Given the description of an element on the screen output the (x, y) to click on. 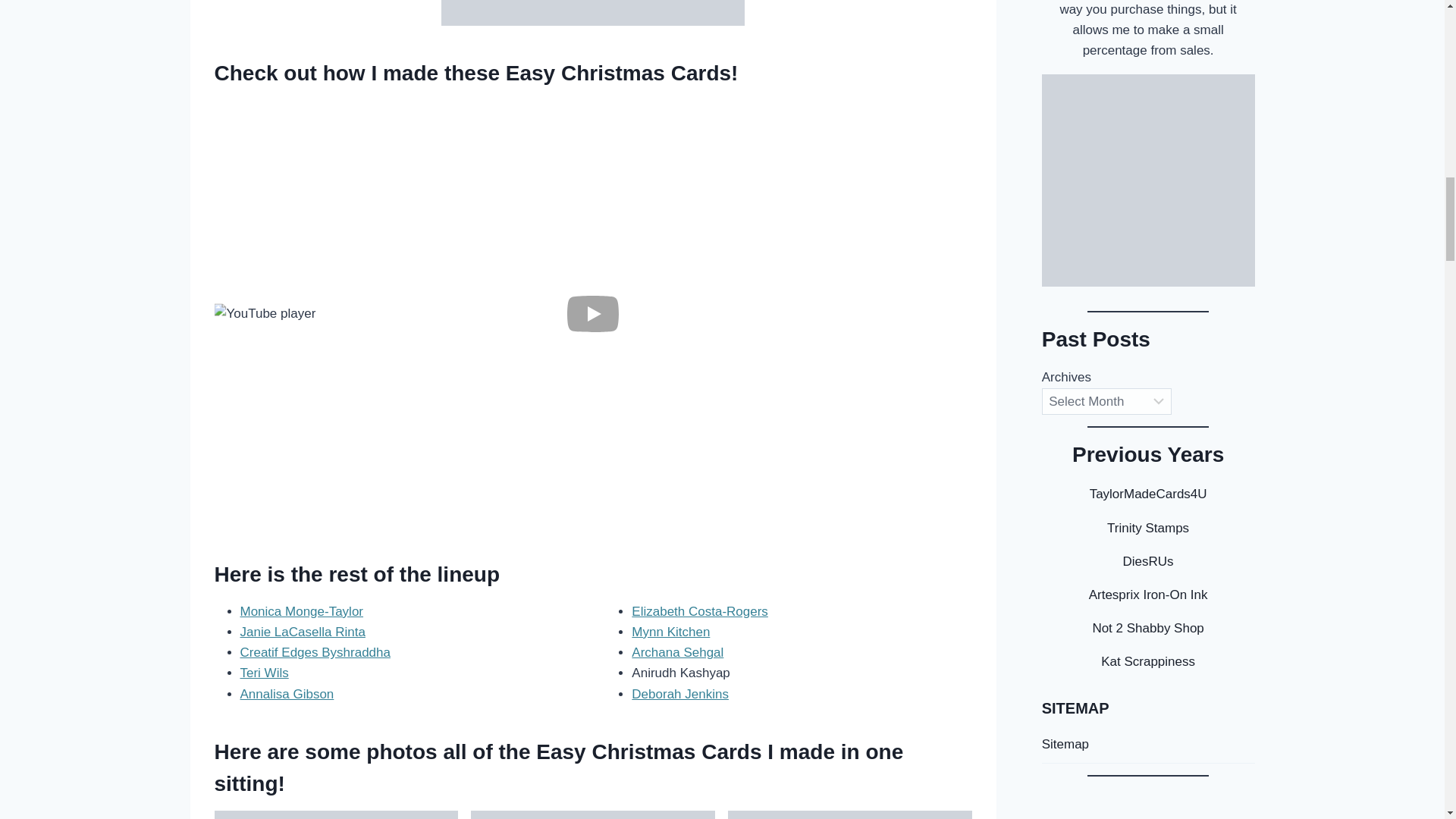
Mynn Kitchen (670, 631)
Teri Wils (264, 672)
Monica Monge-Taylor (301, 611)
Annalisa Gibson (286, 694)
Janie LaCasella Rinta (302, 631)
Archana Sehgal (677, 652)
Creatif Edges Byshraddha (315, 652)
Elizabeth Costa-Rogers (699, 611)
